Given the description of an element on the screen output the (x, y) to click on. 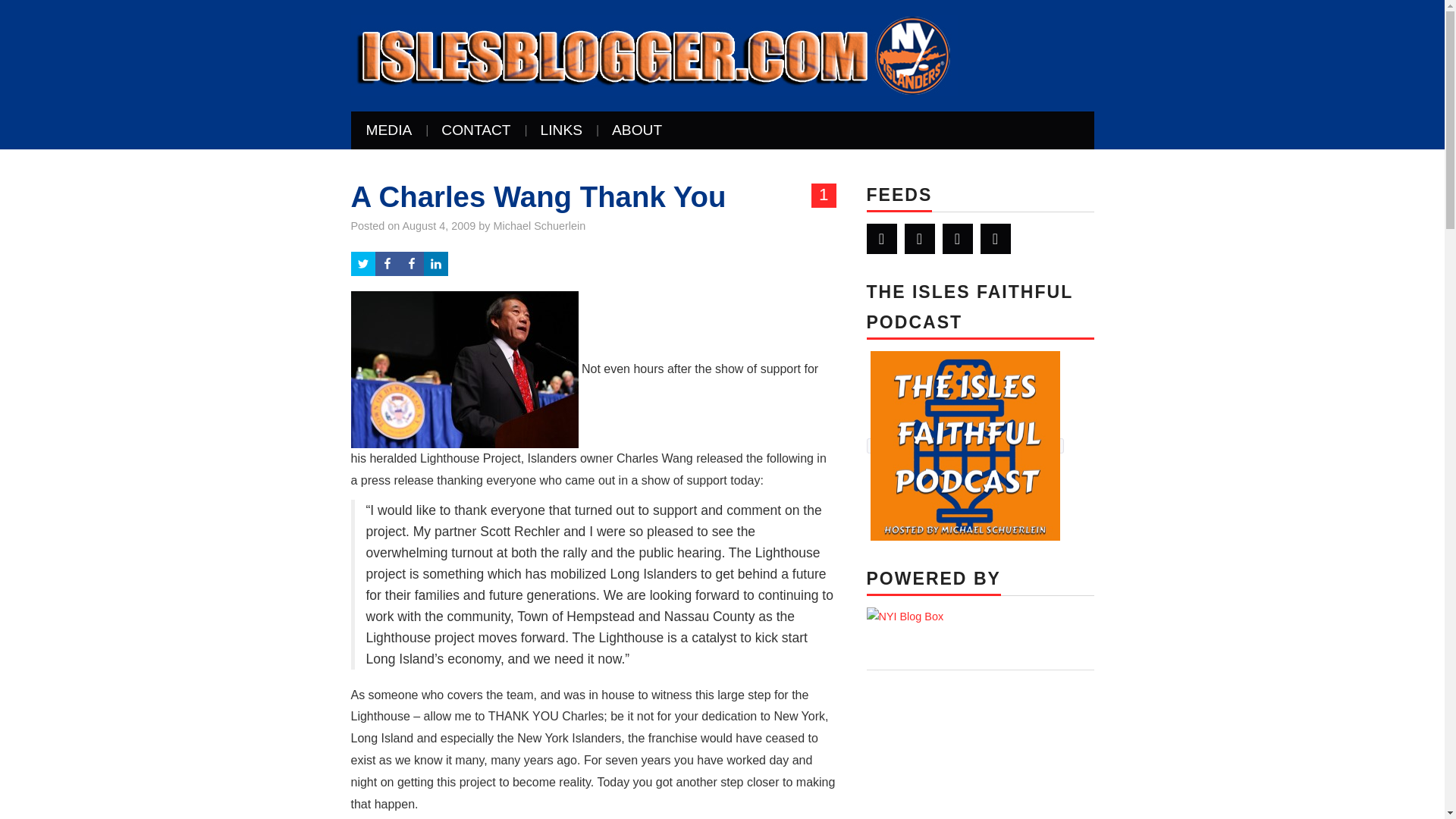
6:52 pm (439, 225)
YouTube (957, 238)
Share on Facebook (410, 263)
Share on LinkedIn (434, 263)
August 4, 2009 (439, 225)
MEDIA (388, 130)
Twitter (881, 238)
Tumblr (994, 238)
View all posts by Michael Schuerlein (539, 225)
Michael Schuerlein (539, 225)
